Given the description of an element on the screen output the (x, y) to click on. 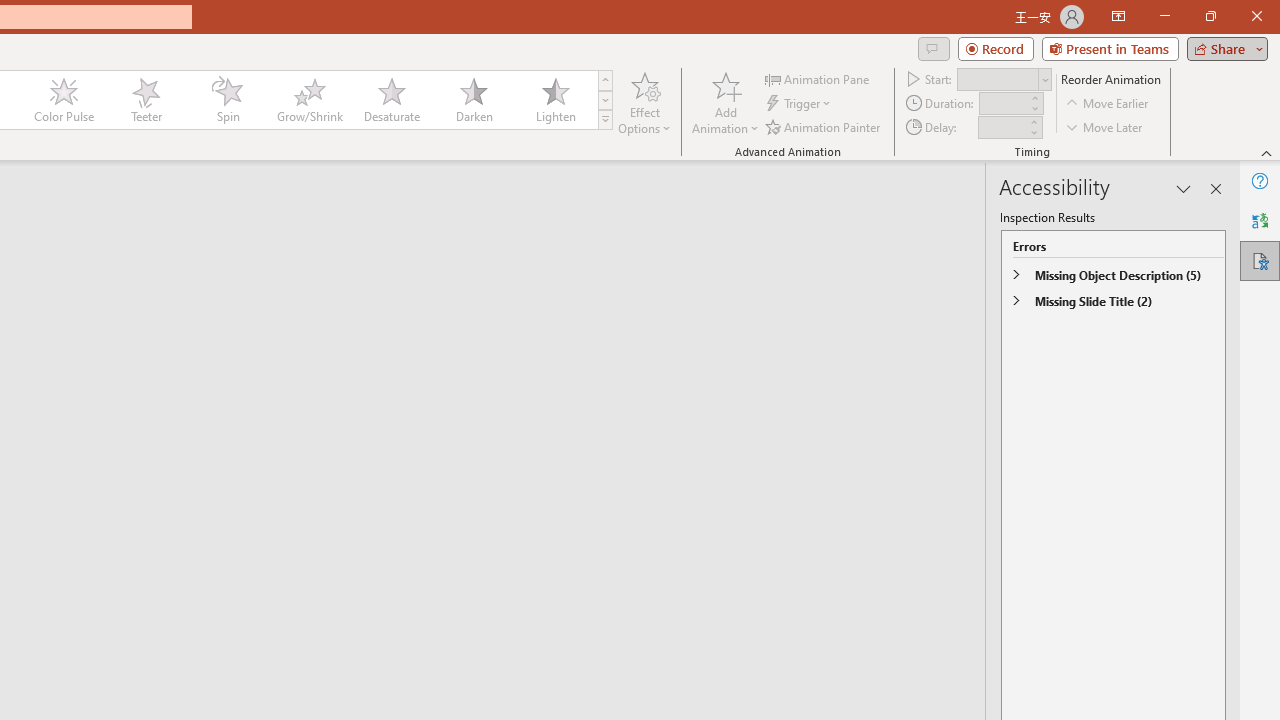
Animation Delay (1002, 127)
Animation Duration (1003, 103)
Add Animation (725, 102)
Move Later (1105, 126)
Animation Styles (605, 120)
